Given the description of an element on the screen output the (x, y) to click on. 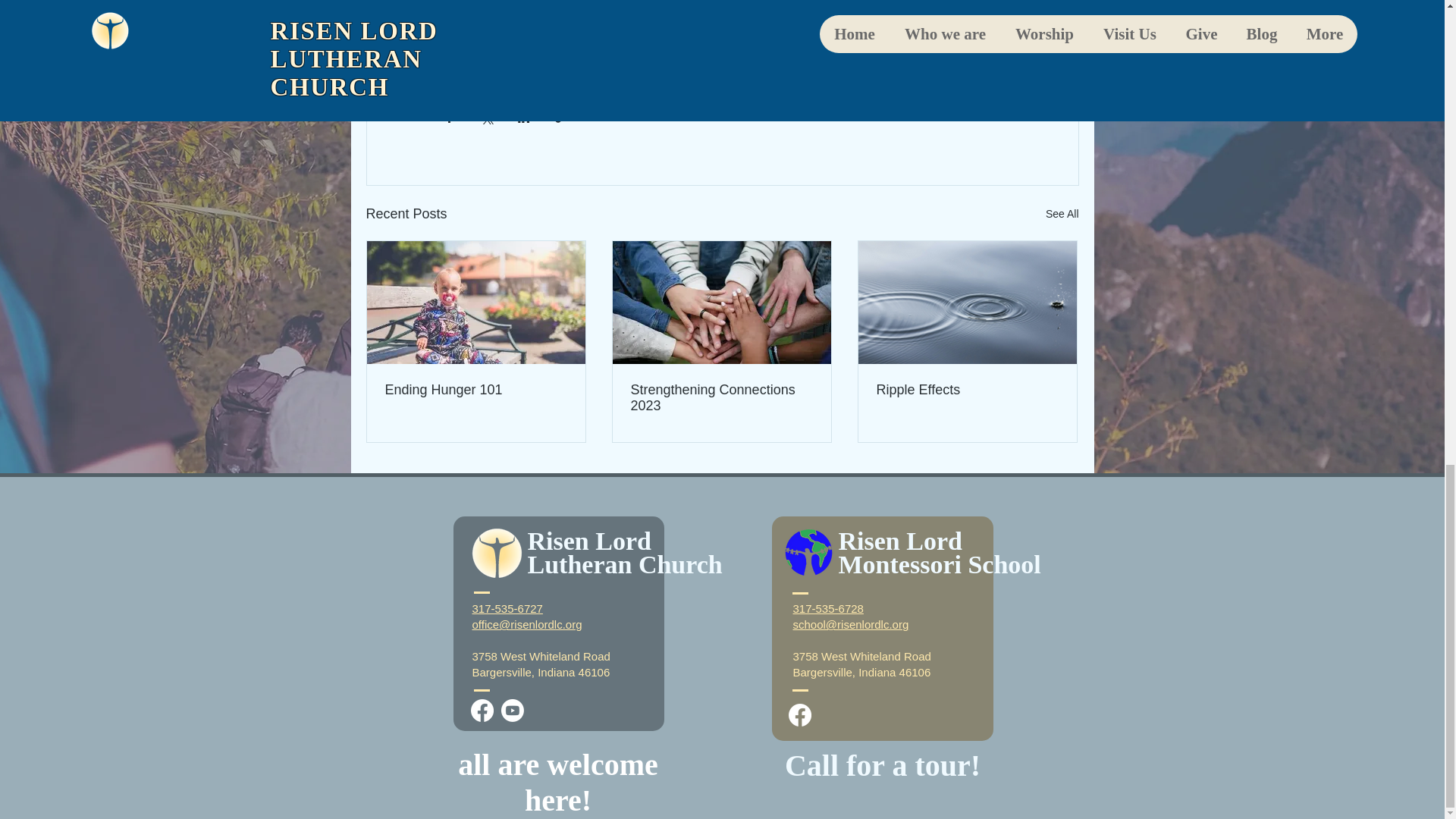
Ripple Effects (967, 390)
Ending Hunger 101 (476, 390)
317-535-6727 (506, 608)
See All (1061, 214)
Strengthening Connections 2023 (721, 398)
317-535-6728 (828, 608)
